Given the description of an element on the screen output the (x, y) to click on. 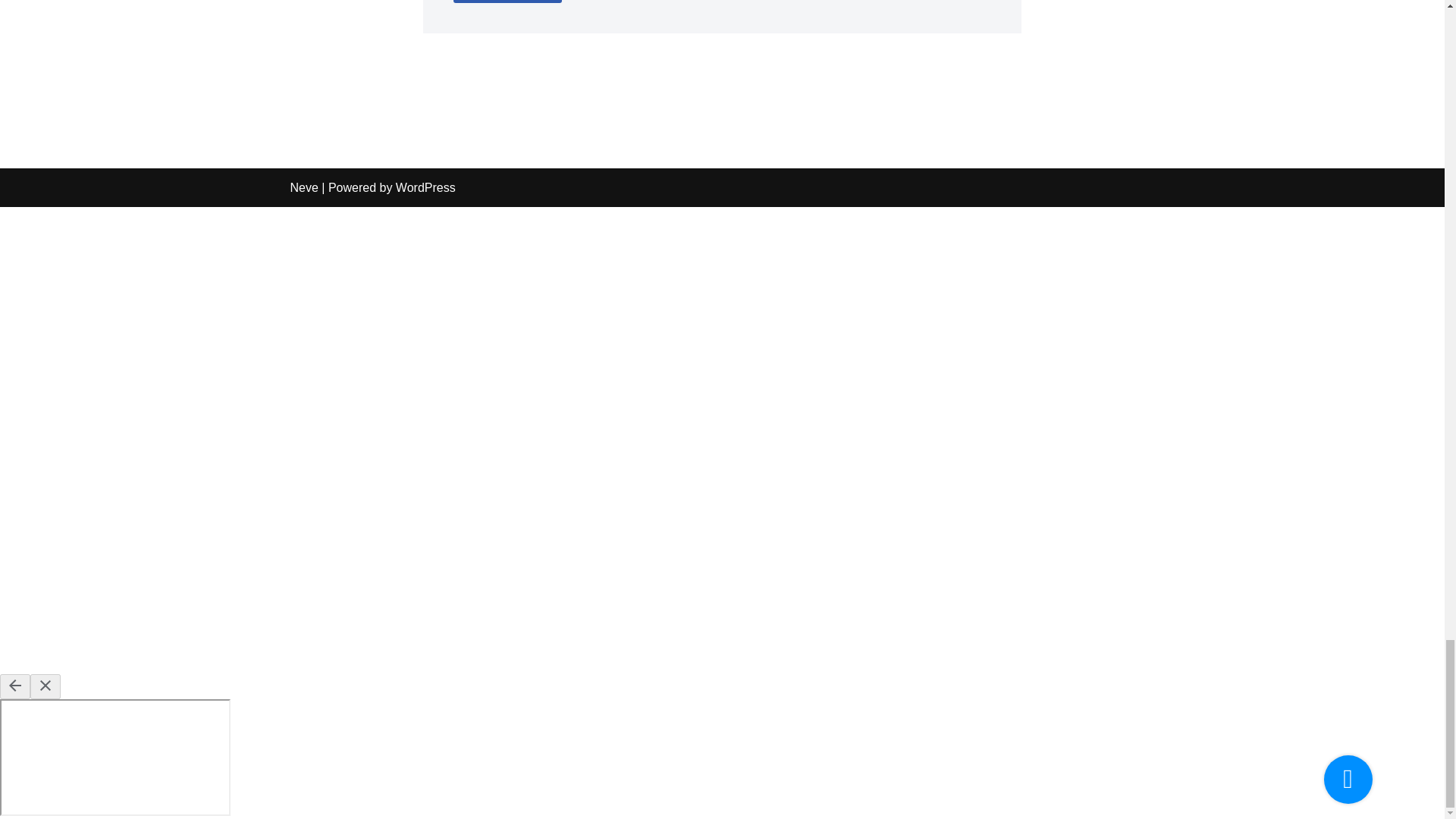
Post Comment (507, 1)
Neve (303, 187)
WordPress (425, 187)
Post Comment (507, 1)
